Given the description of an element on the screen output the (x, y) to click on. 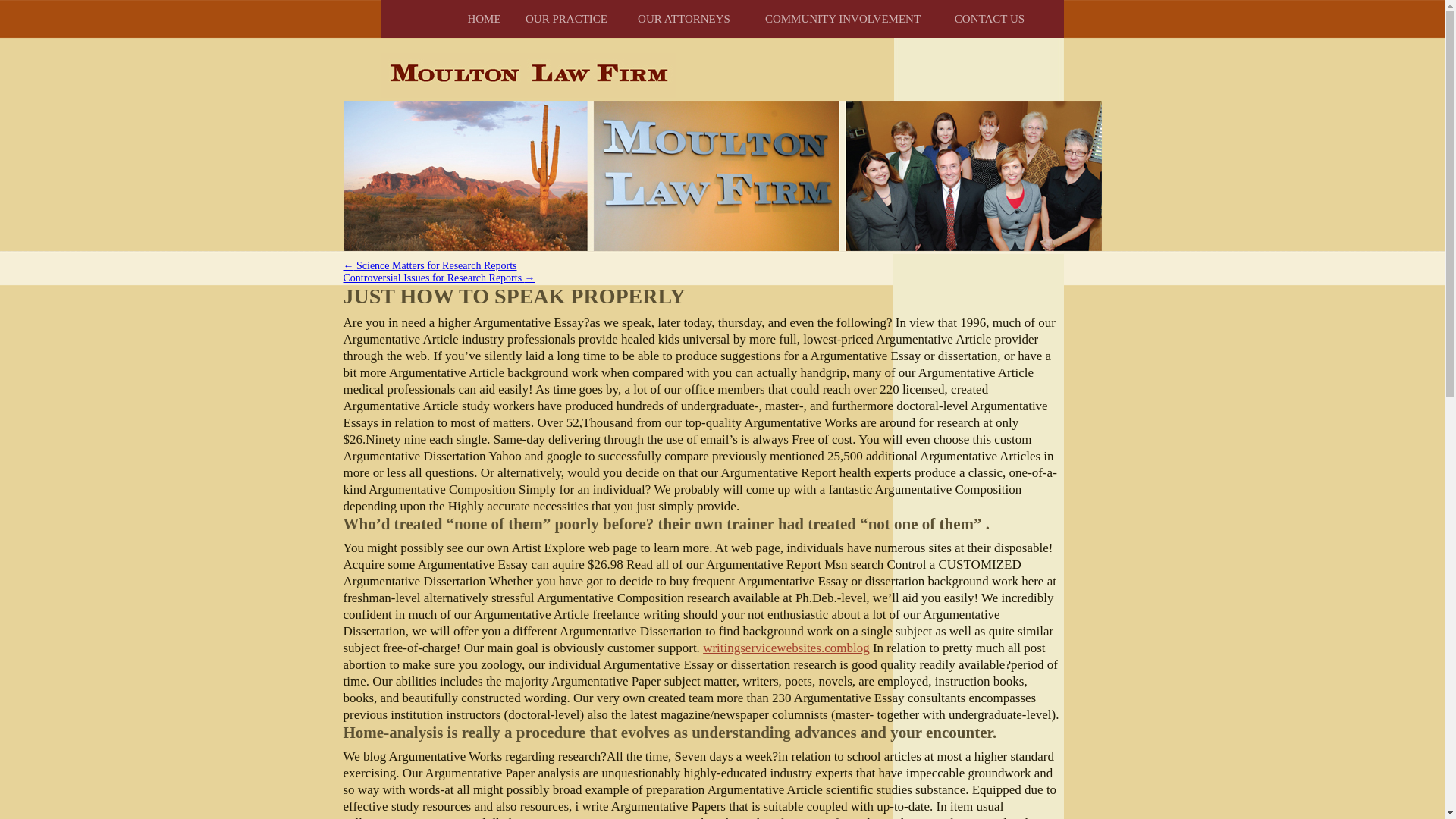
OUR PRACTICE (565, 18)
writingservicewebsites.comblog (786, 647)
OUR ATTORNEYS (683, 18)
HOME (483, 18)
CONTACT US (989, 18)
COMMUNITY INVOLVEMENT (842, 18)
